Given the description of an element on the screen output the (x, y) to click on. 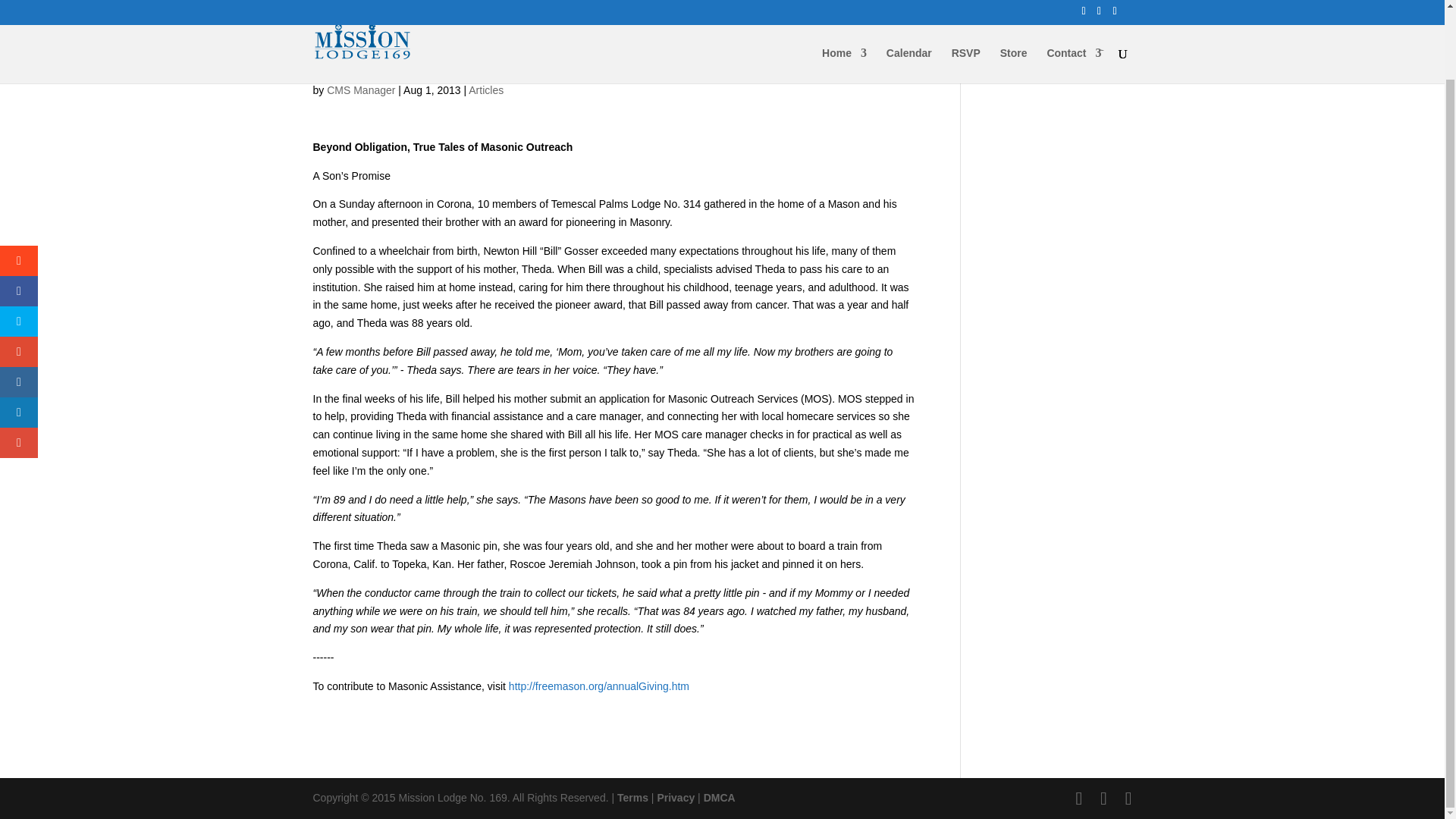
RSVP (965, 3)
Calendar (908, 3)
Terms (632, 797)
DMCA (719, 797)
CMS Manager (360, 90)
Articles (485, 90)
Home (844, 3)
Privacy (675, 797)
Posts by CMS Manager (360, 90)
Contact (1073, 3)
Store (1013, 3)
